Given the description of an element on the screen output the (x, y) to click on. 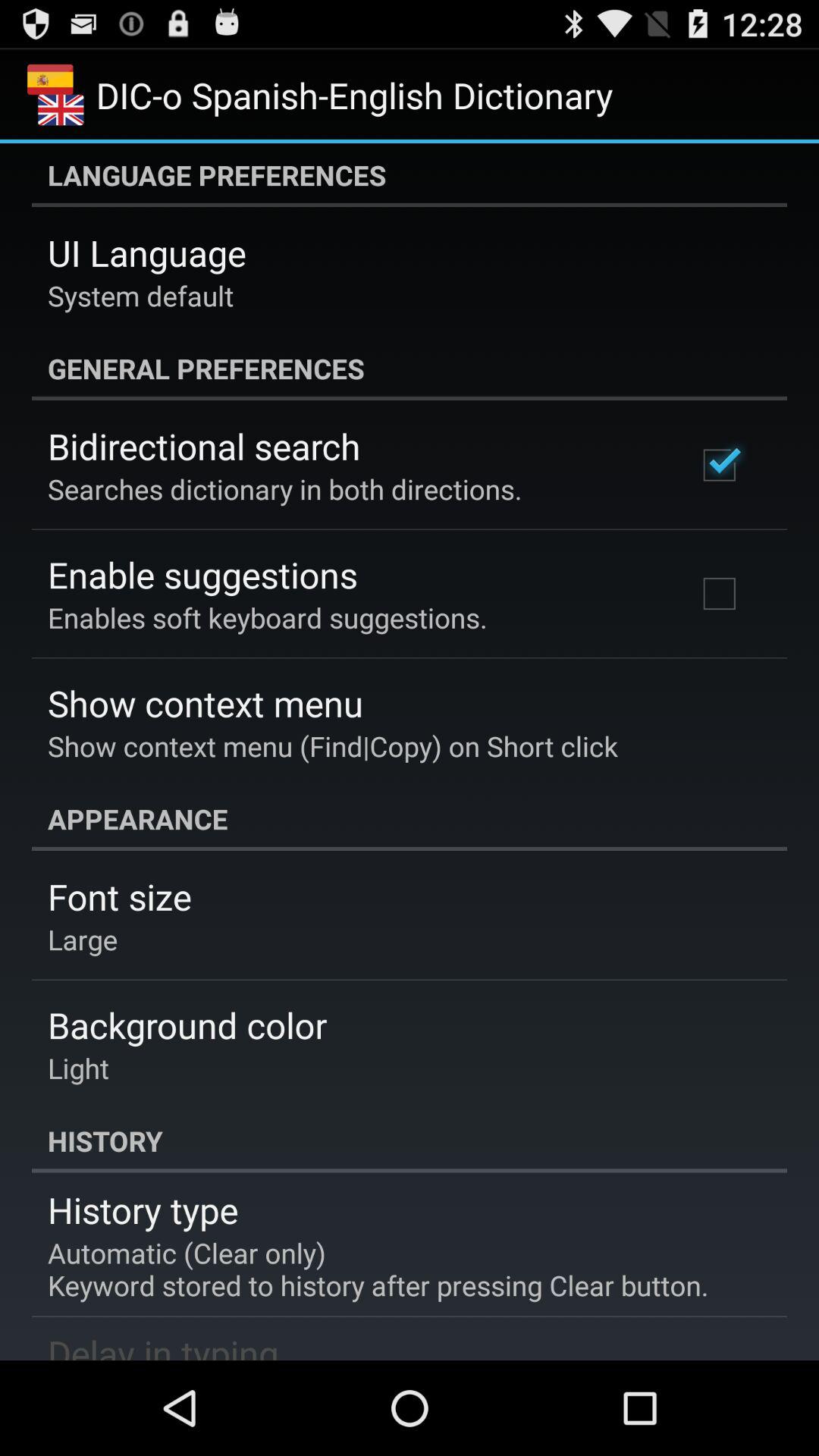
tap the app below the searches dictionary in app (202, 574)
